Given the description of an element on the screen output the (x, y) to click on. 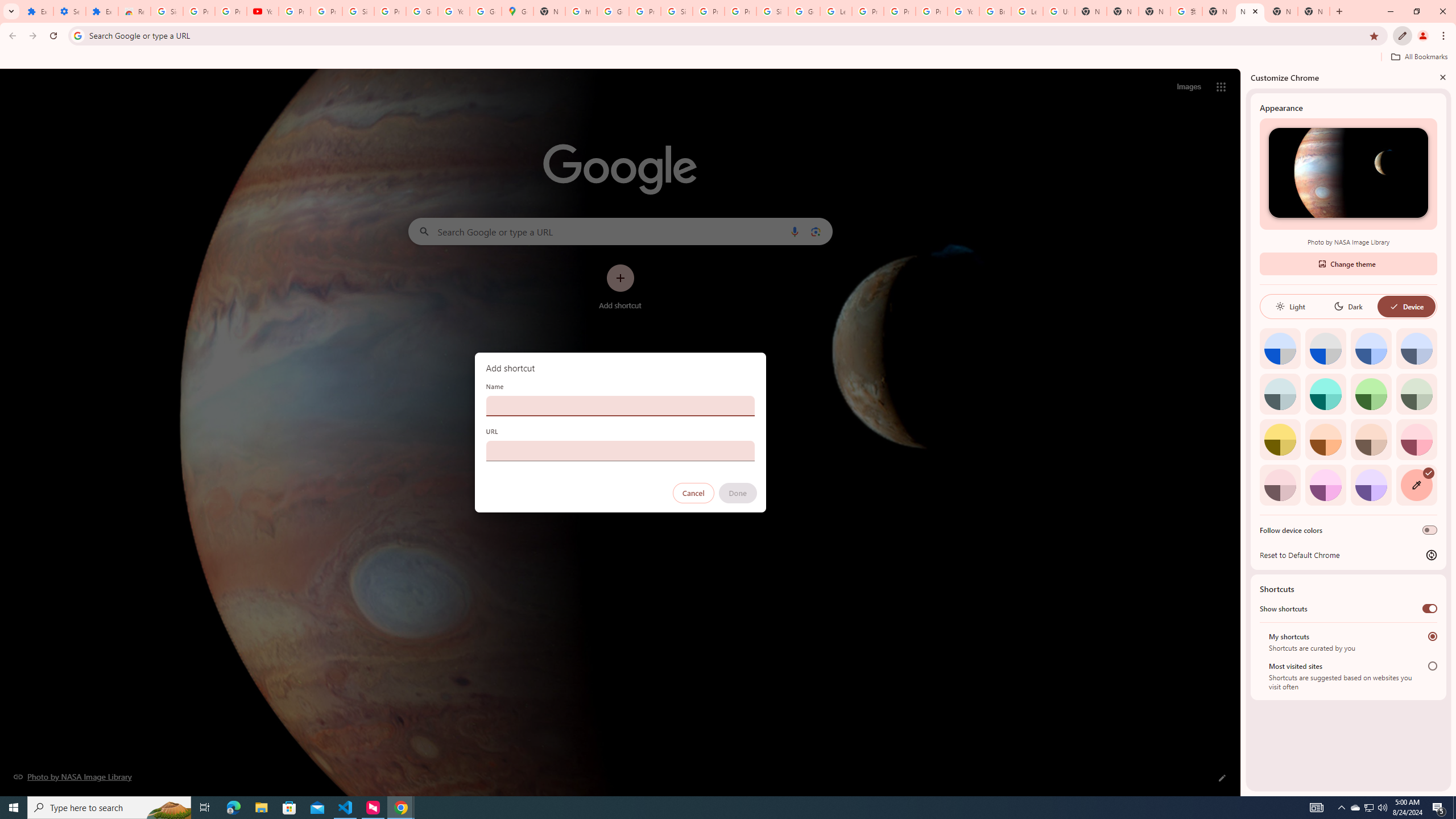
Follow device colors (1429, 529)
Dark (1348, 305)
Name (620, 405)
Fuchsia (1325, 484)
Privacy Help Center - Policies Help (868, 11)
Rose (1416, 439)
Aqua (1325, 393)
Extensions (37, 11)
My shortcuts (1432, 636)
Device (1406, 305)
Show shortcuts (1429, 608)
Done (737, 493)
Photo by NASA Image Library (1348, 172)
